Given the description of an element on the screen output the (x, y) to click on. 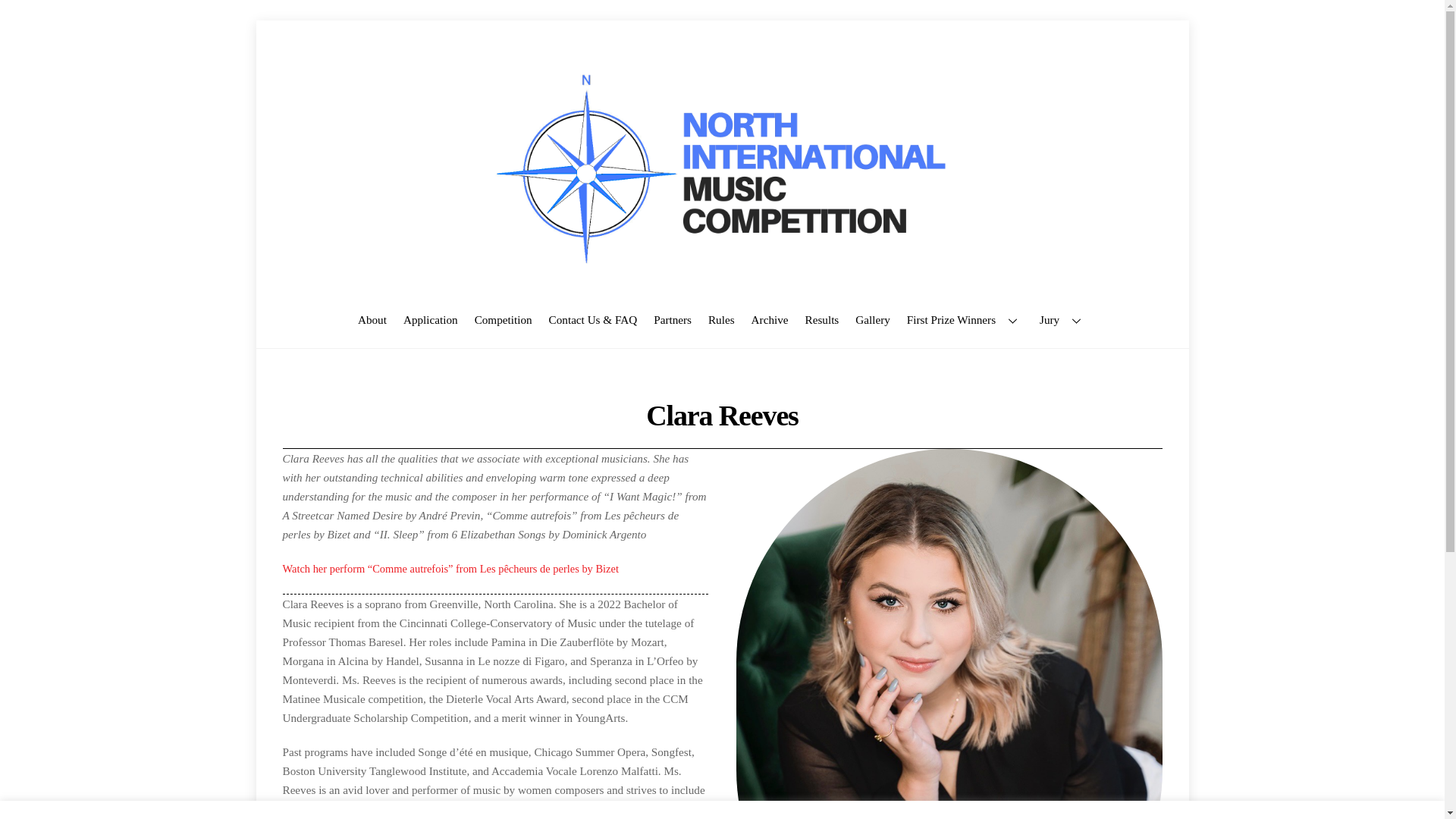
Archive (769, 319)
Jury (1062, 319)
Results (821, 319)
About (371, 319)
Application (430, 319)
Partners (672, 319)
Gallery (872, 319)
North Online Music Competition (722, 270)
Competition (502, 319)
Rules (721, 319)
First Prize Winners (964, 319)
